Given the description of an element on the screen output the (x, y) to click on. 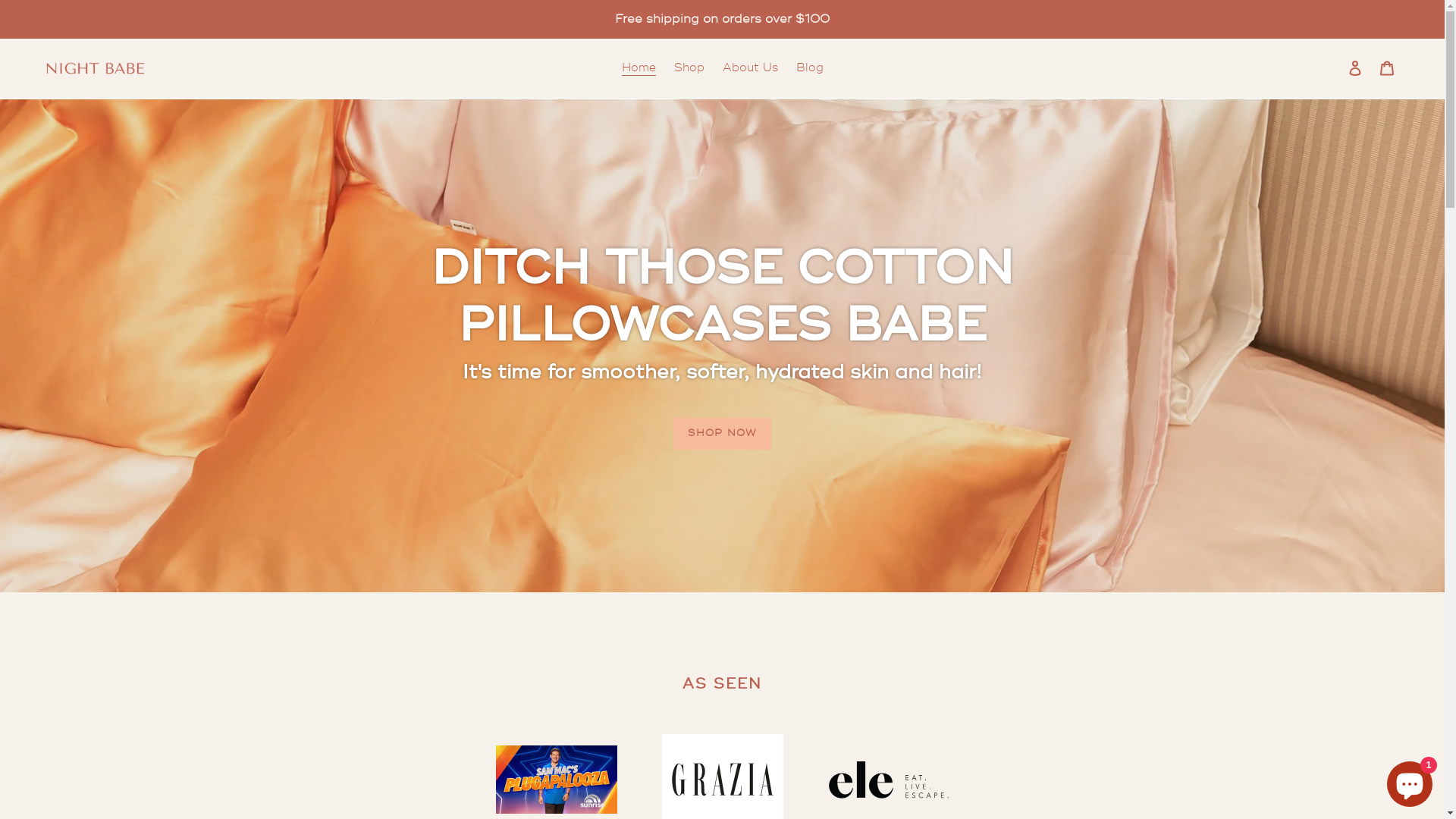
About Us Element type: text (749, 68)
Home Element type: text (638, 68)
Blog Element type: text (809, 68)
SHOP NOW Element type: text (721, 433)
Cart Element type: text (1386, 68)
Free shipping on orders over $100 Element type: text (722, 18)
Shop Element type: text (688, 68)
Search Element type: text (1334, 68)
Shopify online store chat Element type: hover (1409, 780)
Log in Element type: text (1355, 68)
